Given the description of an element on the screen output the (x, y) to click on. 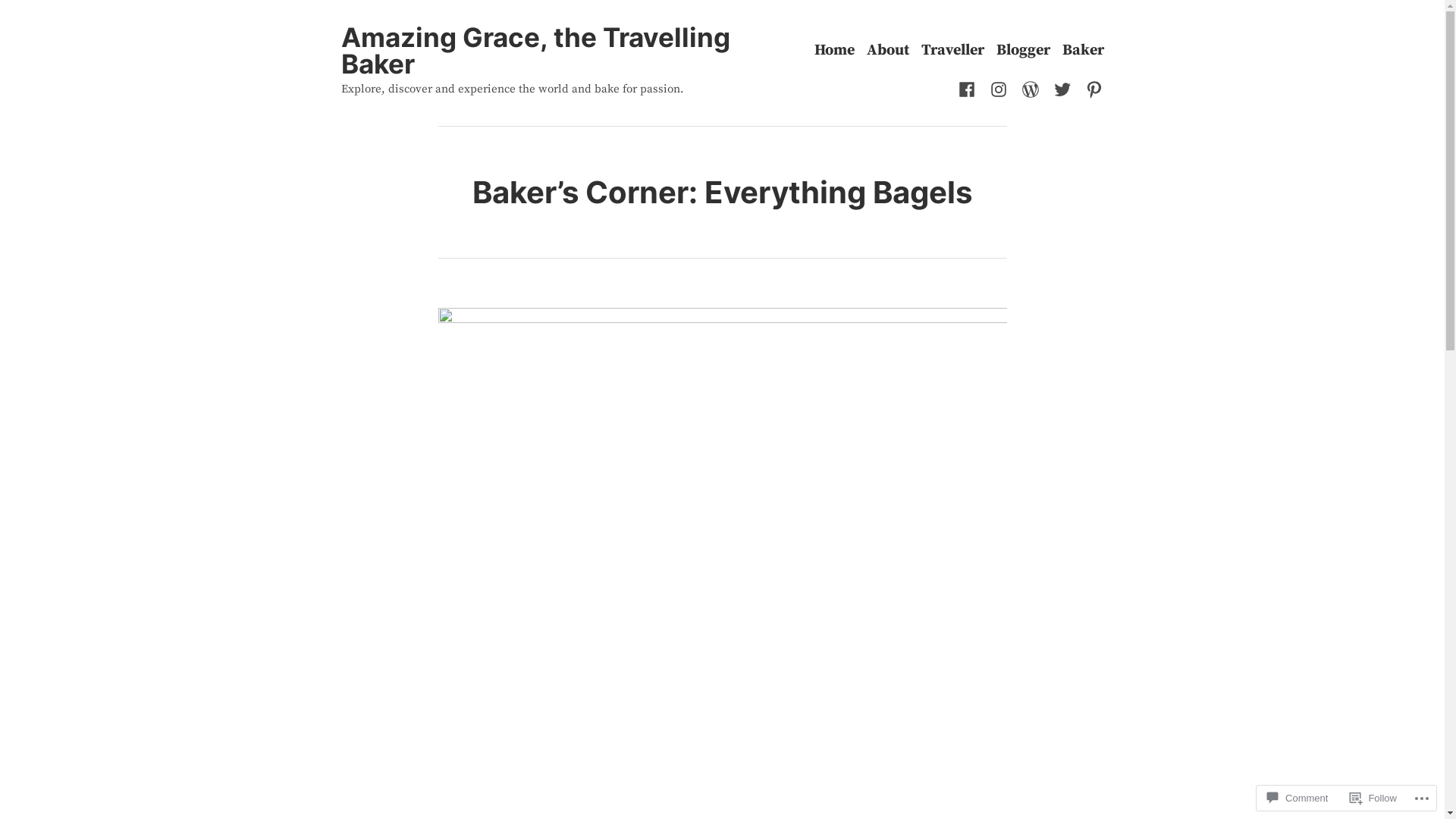
About Element type: text (887, 50)
Traveller Element type: text (951, 50)
Comment Element type: text (1297, 797)
Follow Element type: text (1372, 797)
Blogger Element type: text (1023, 50)
Home Element type: text (834, 50)
Amazing Grace, the Travelling Baker Element type: text (535, 50)
Baker Element type: text (1082, 50)
